Given the description of an element on the screen output the (x, y) to click on. 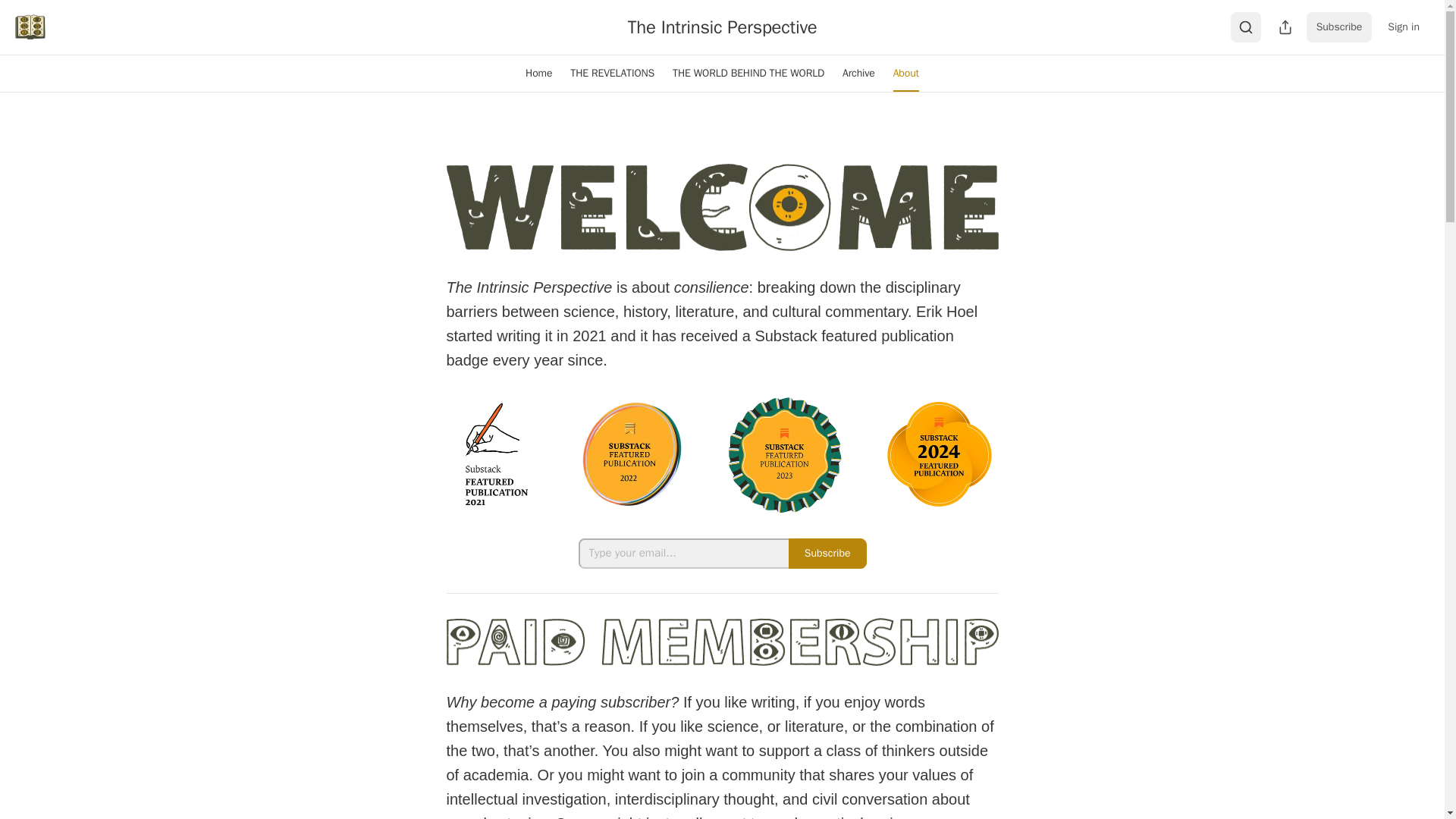
The Intrinsic Perspective (721, 26)
Subscribe (827, 553)
THE WORLD BEHIND THE WORLD (747, 73)
Sign in (1403, 27)
Archive (857, 73)
About (905, 73)
THE REVELATIONS (611, 73)
Subscribe (1339, 27)
Home (538, 73)
